Given the description of an element on the screen output the (x, y) to click on. 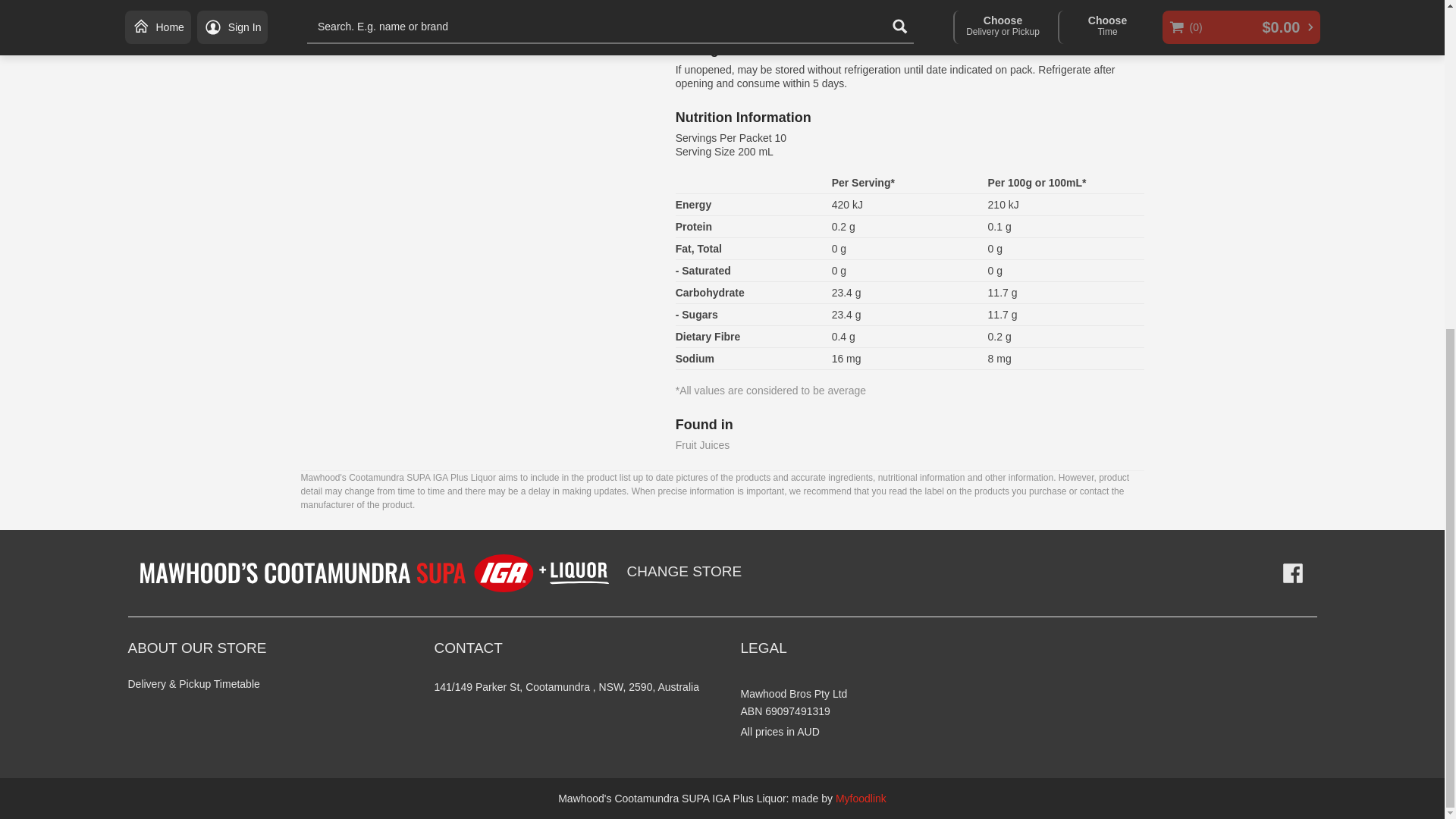
Fruit Juices (702, 444)
Myfoodlink (860, 798)
Facebook (1291, 573)
CHANGE STORE (684, 573)
